Given the description of an element on the screen output the (x, y) to click on. 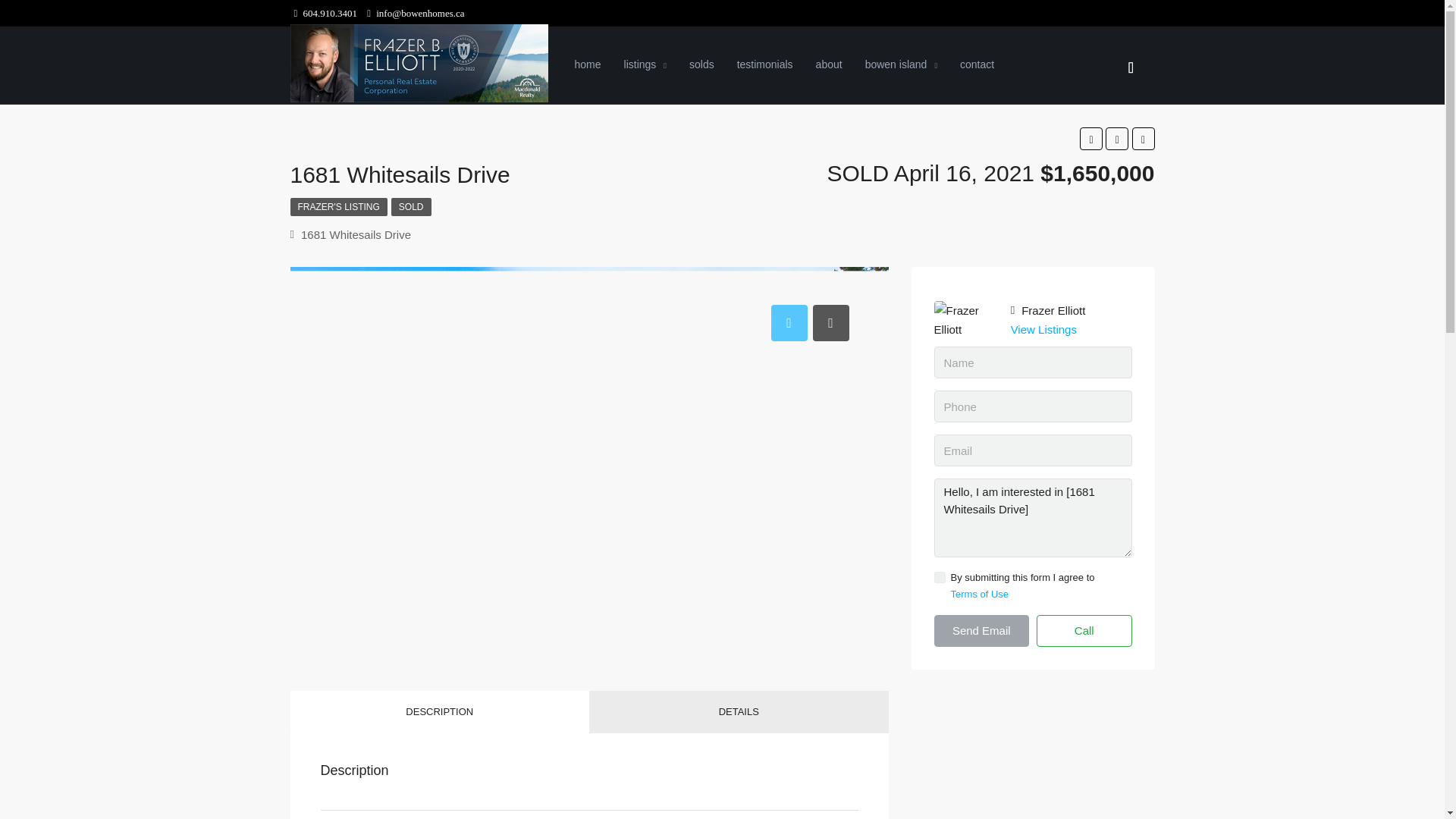
testimonials (765, 65)
bowen island (901, 65)
604.910.3401 (326, 12)
